Given the description of an element on the screen output the (x, y) to click on. 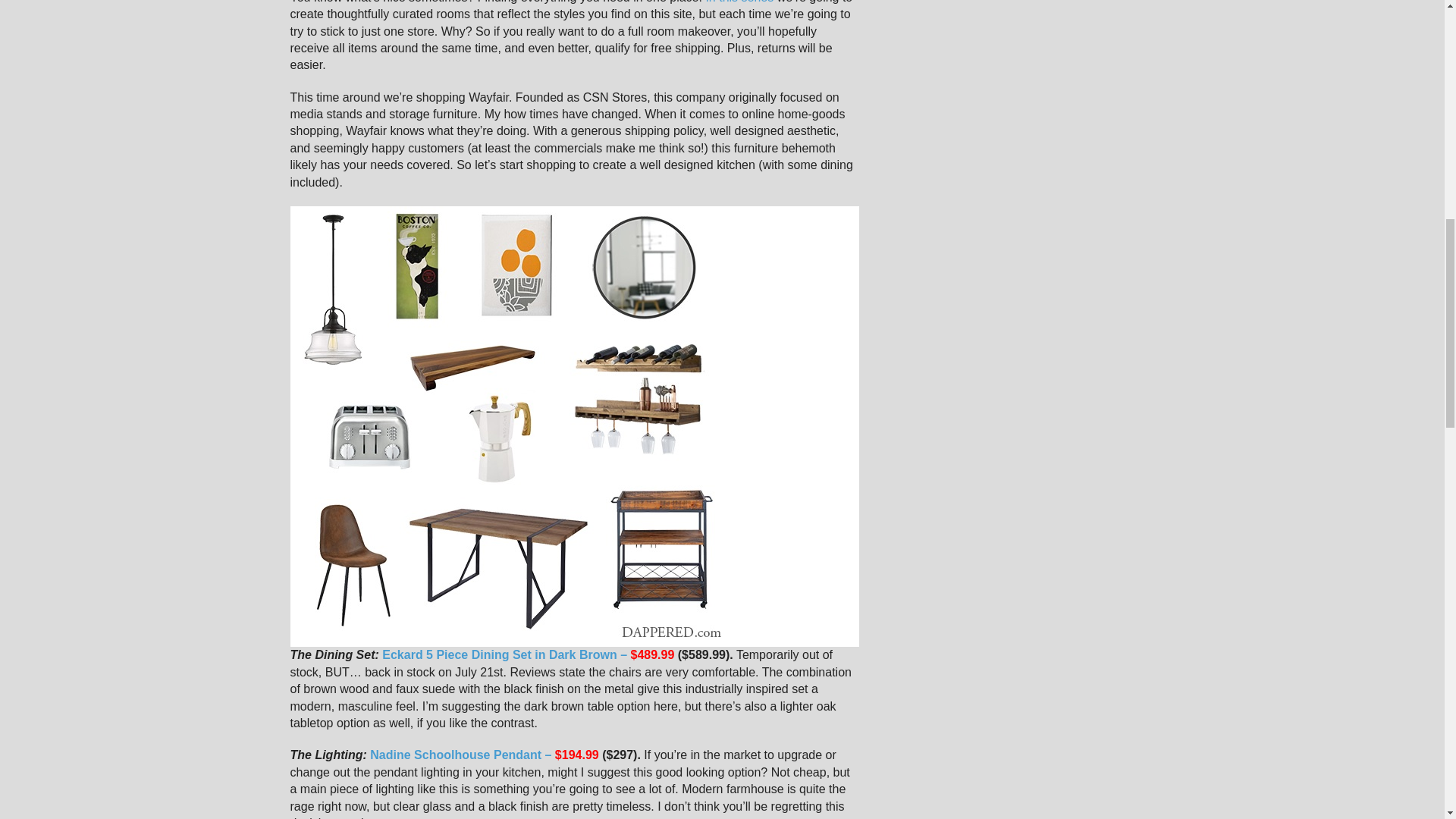
In this series (738, 2)
